Given the description of an element on the screen output the (x, y) to click on. 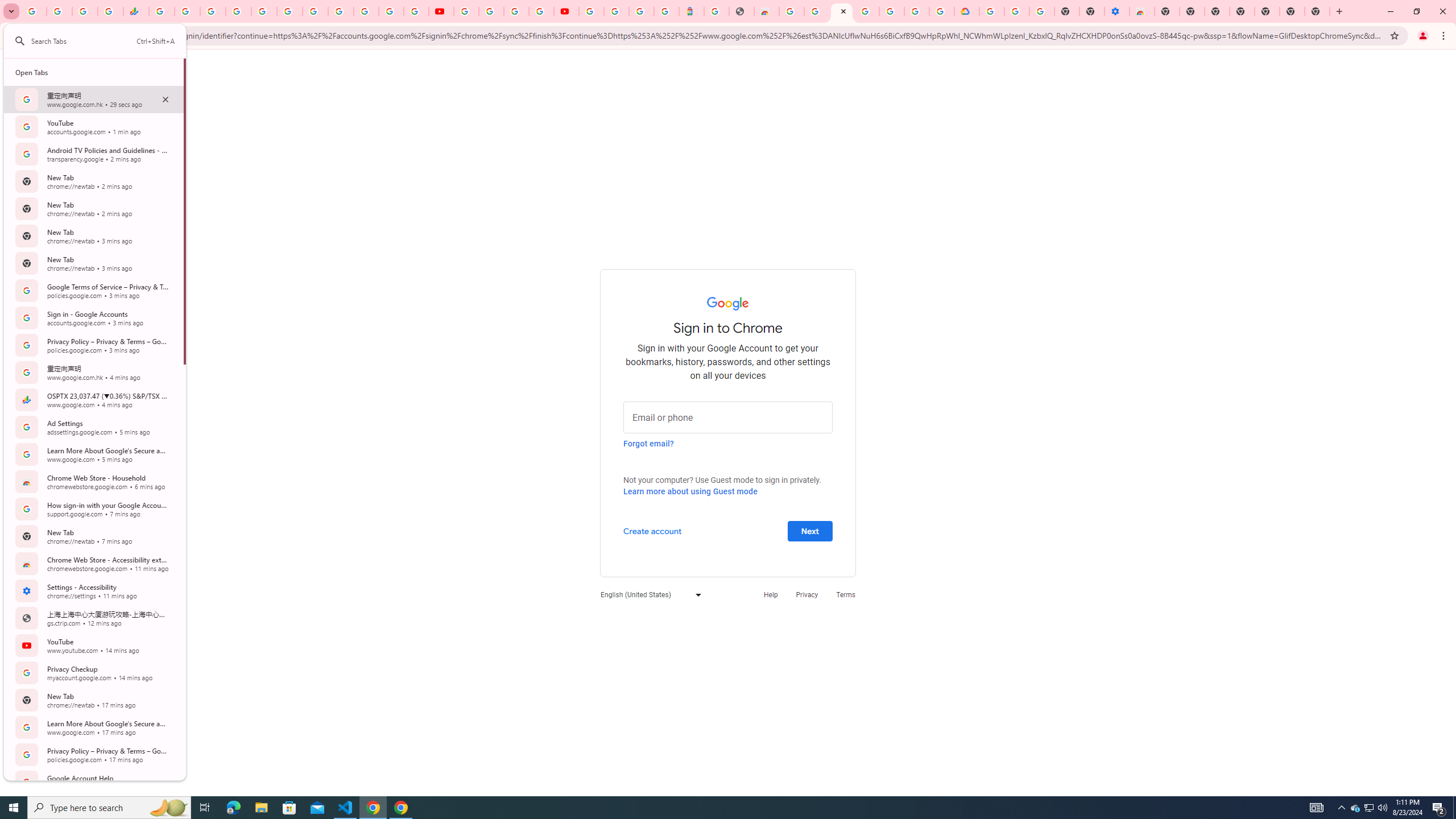
Terms (845, 594)
New Tab newtab 3 mins ago Open Tab (93, 262)
Visual Studio Code - 1 running window (1368, 807)
Show desktop (345, 807)
Google Account Help (1454, 807)
Forgot email? (491, 11)
Privacy Checkup (648, 443)
